Given the description of an element on the screen output the (x, y) to click on. 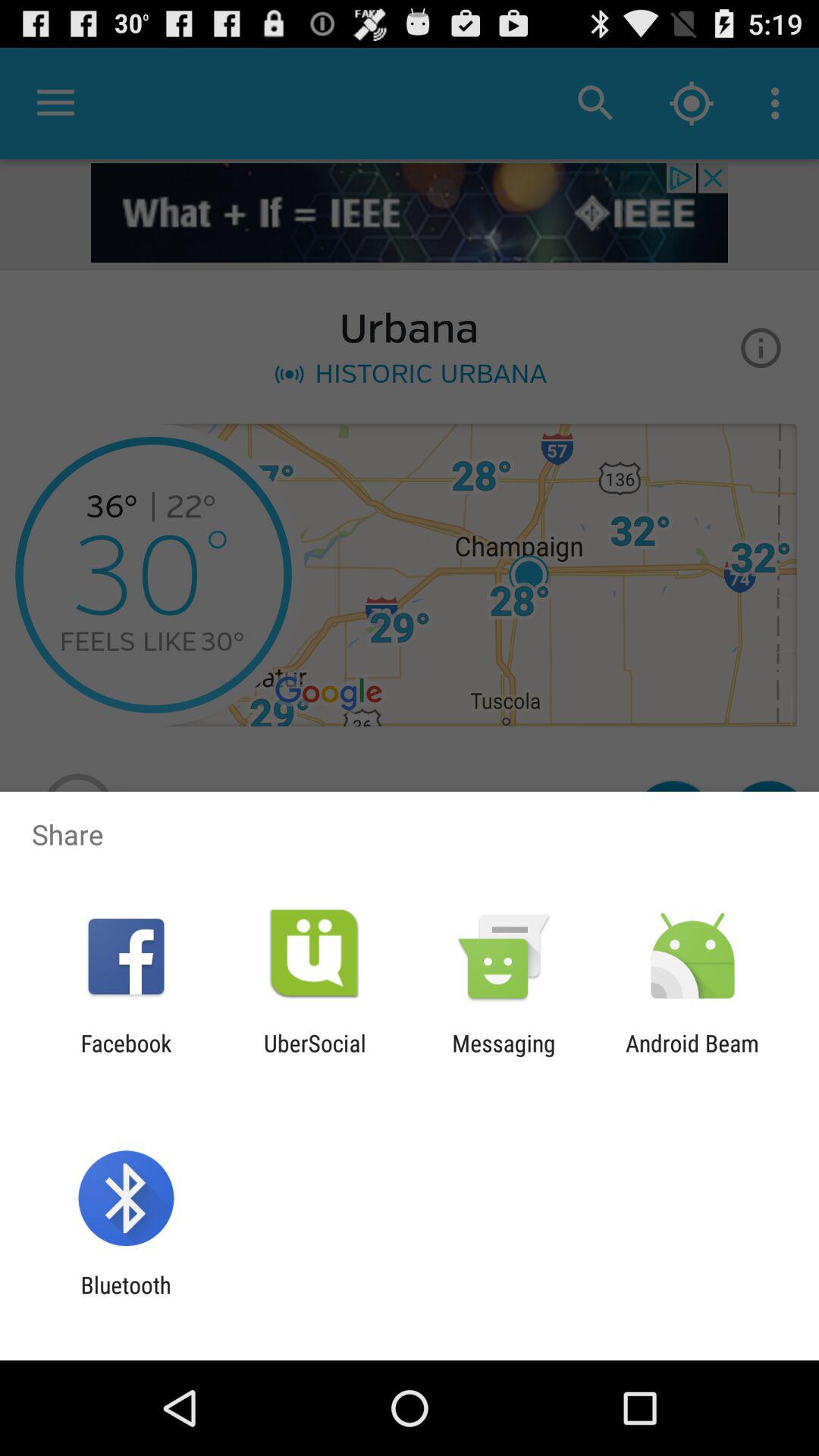
turn off icon to the right of ubersocial (503, 1056)
